Given the description of an element on the screen output the (x, y) to click on. 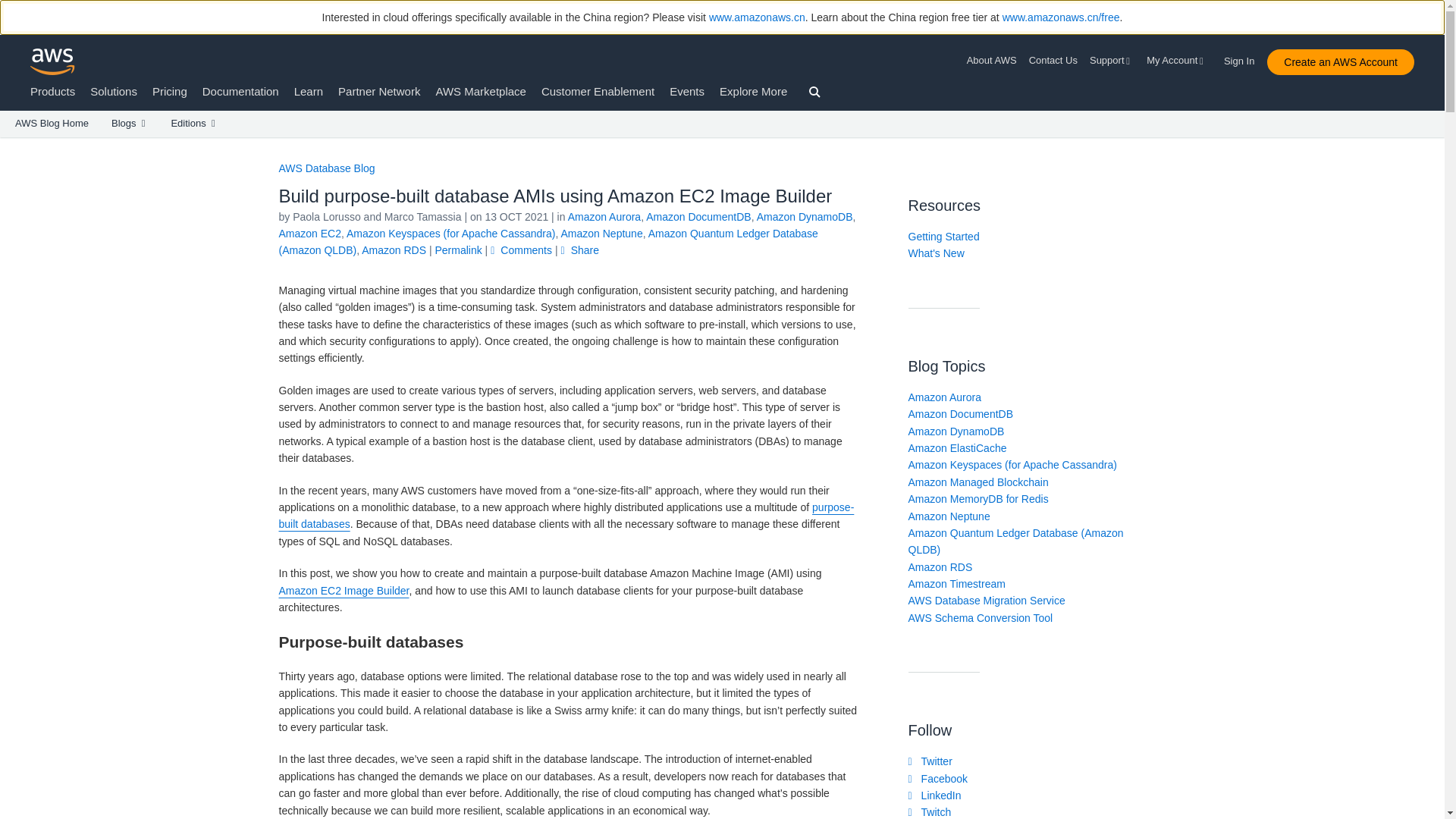
Create an AWS Account (1339, 62)
Skip to Main Content (7, 143)
Products (52, 91)
Contact Us (1053, 60)
Partner Network (378, 91)
About AWS (994, 60)
Solutions (113, 91)
View all posts in Amazon Aurora (604, 216)
Explore More (753, 91)
www.amazonaws.cn (757, 17)
Customer Enablement (597, 91)
Click here to return to Amazon Web Services homepage (52, 61)
Support  (1111, 60)
View all posts in Amazon Neptune (601, 233)
View all posts in Amazon EC2 (309, 233)
